Given the description of an element on the screen output the (x, y) to click on. 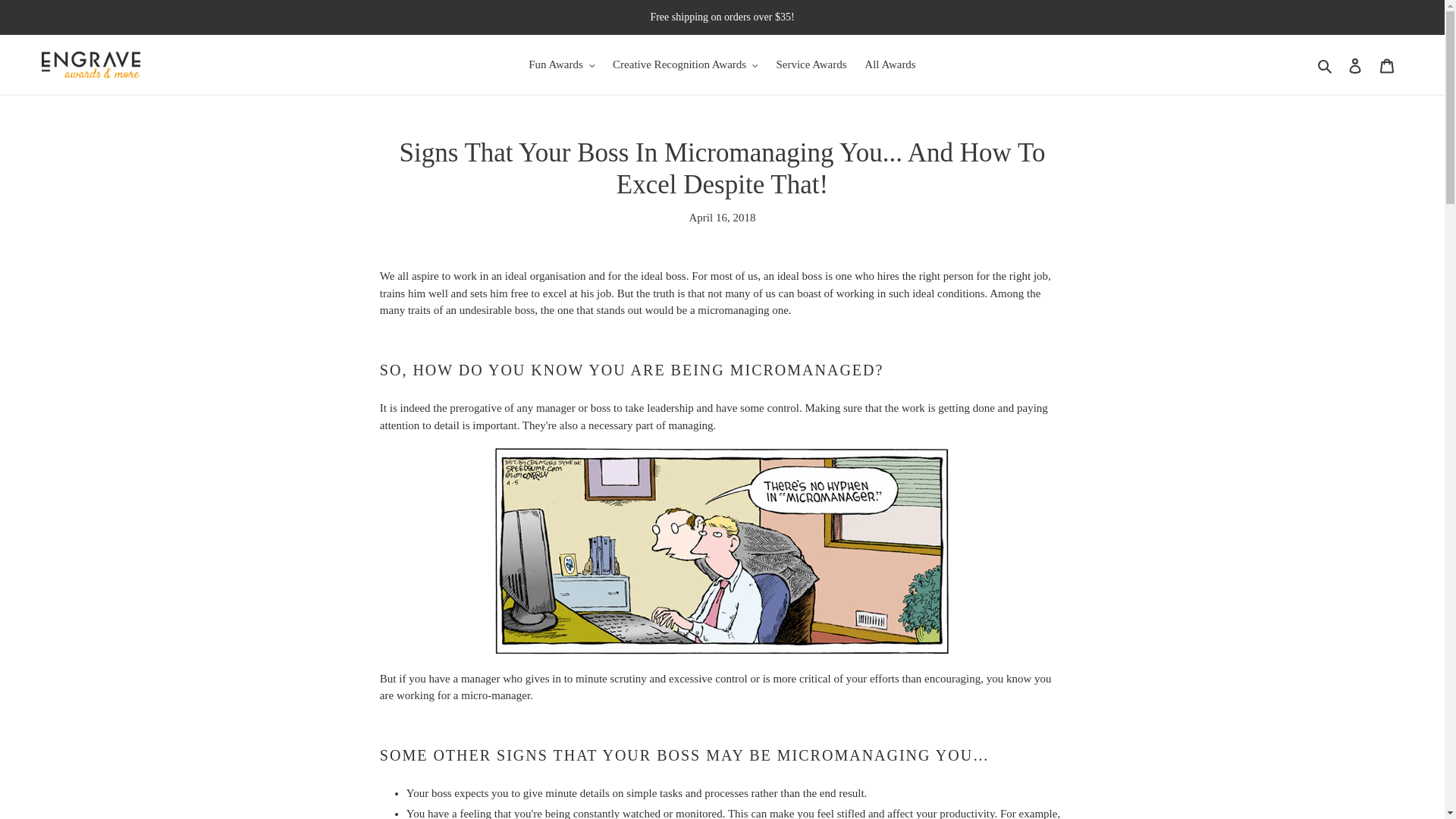
Log in (1355, 64)
Service Awards (810, 65)
Search (1326, 64)
Creative Recognition Awards (685, 65)
Fun Awards (561, 65)
All Awards (890, 65)
Cart (1387, 64)
